Given the description of an element on the screen output the (x, y) to click on. 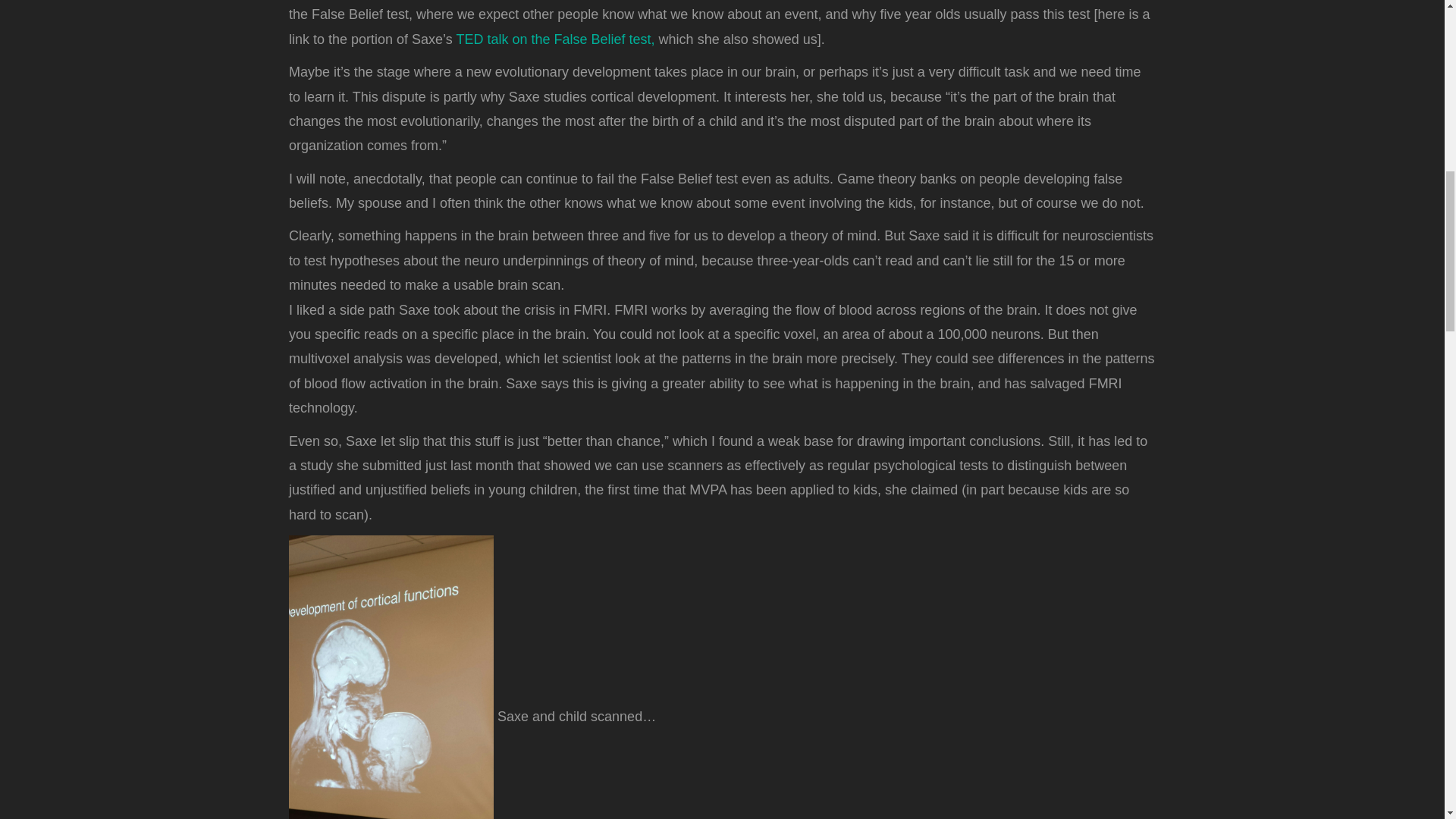
TED talk on the False Belief test, (556, 38)
